Given the description of an element on the screen output the (x, y) to click on. 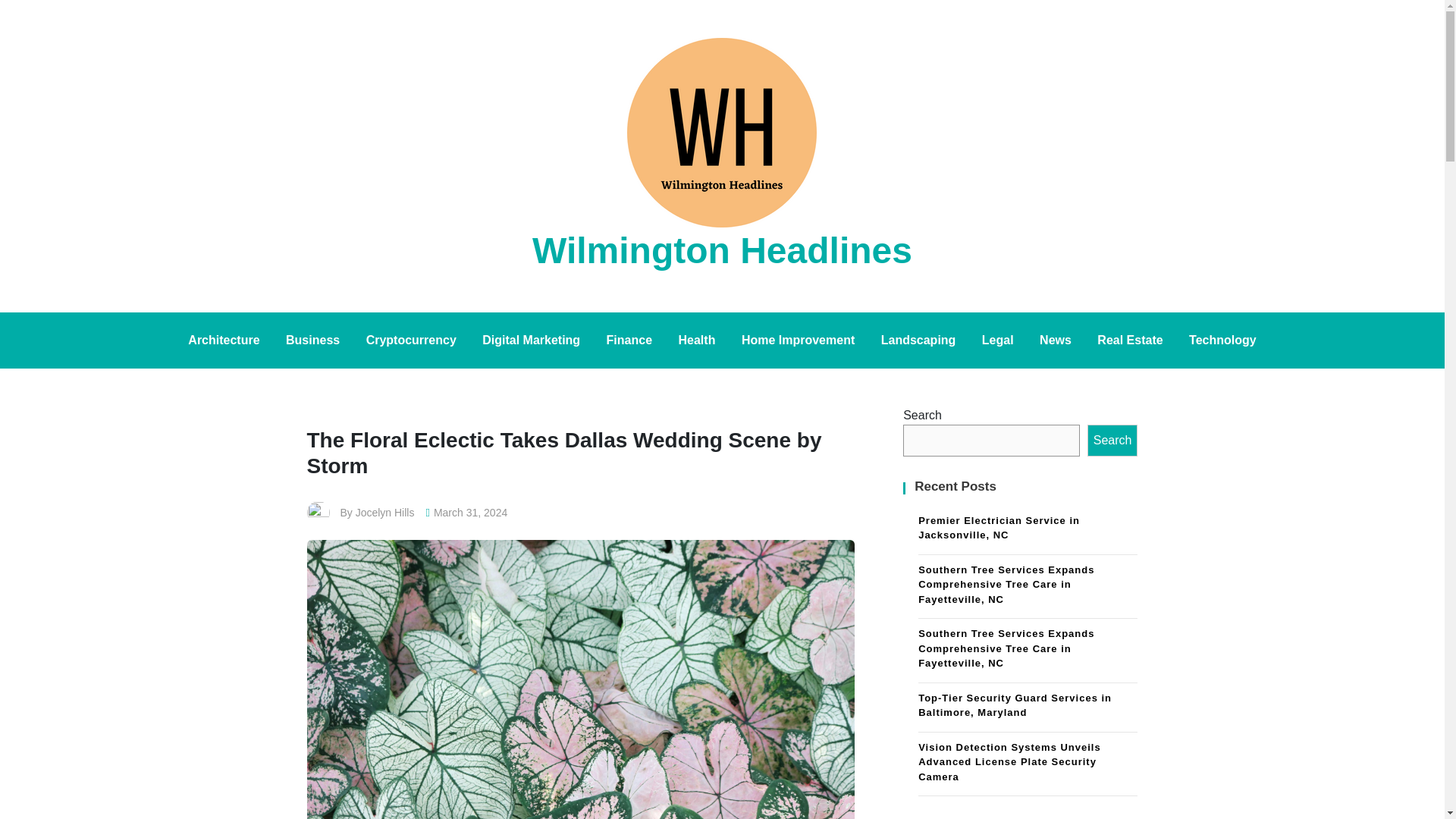
Top-Tier Security Guard Services in Baltimore, Maryland (1027, 707)
Wilmington Headlines (722, 250)
Business (312, 340)
Home Improvement (798, 340)
Jocelyn Hills (384, 512)
Premier Electrician Service in Jacksonville, NC (1027, 530)
Search (1112, 440)
Digital Marketing (530, 340)
Technology (1222, 340)
Architecture (223, 340)
Real Estate (1129, 340)
Cryptocurrency (411, 340)
Health (696, 340)
